Given the description of an element on the screen output the (x, y) to click on. 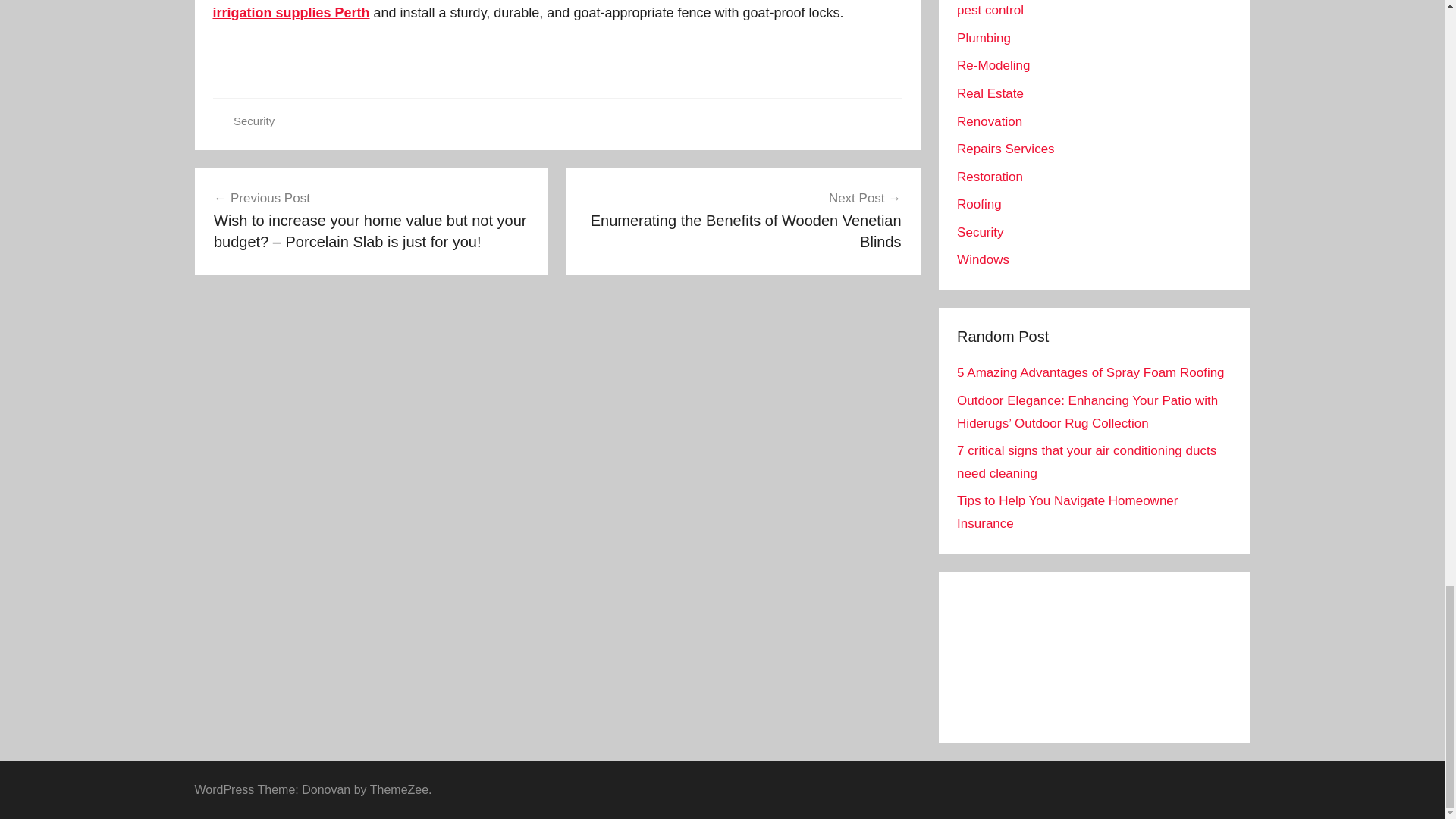
Security (253, 120)
irrigation supplies Perth (290, 12)
